Given the description of an element on the screen output the (x, y) to click on. 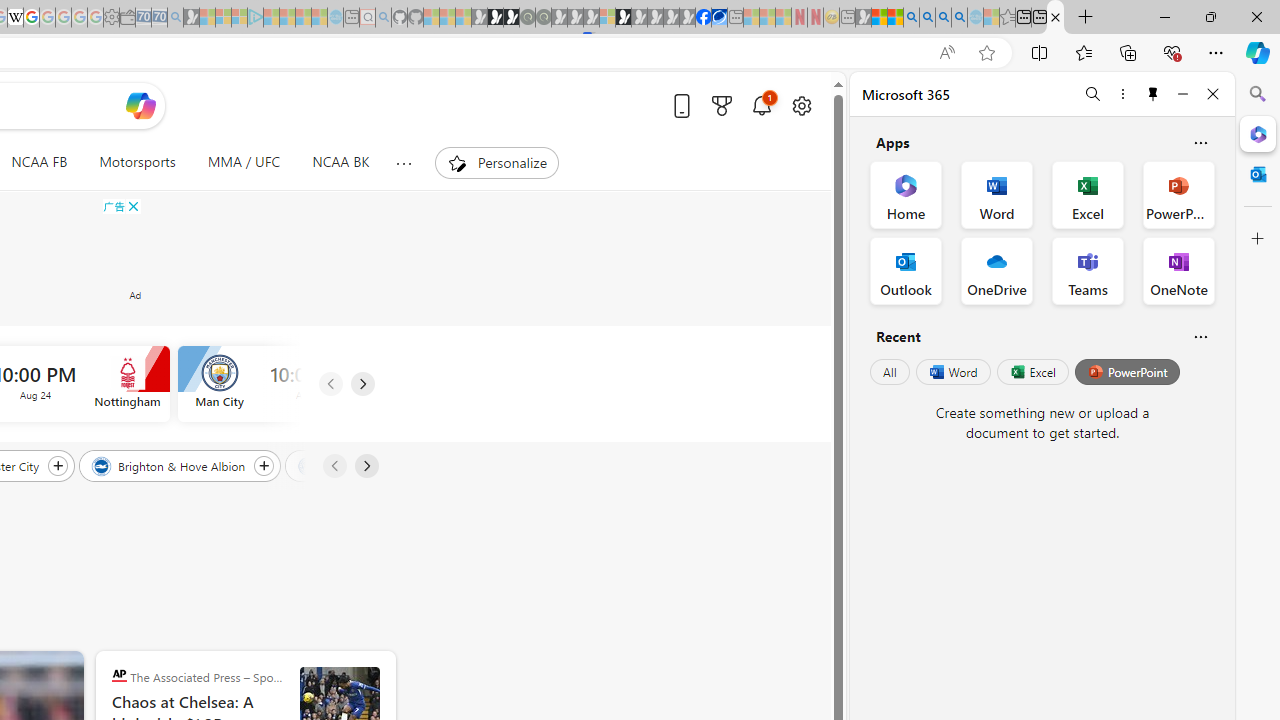
MMA / UFC (244, 162)
Leicester City (347, 465)
NCAA BK (340, 162)
Word Office App (996, 194)
Show more topics (402, 163)
